Given the description of an element on the screen output the (x, y) to click on. 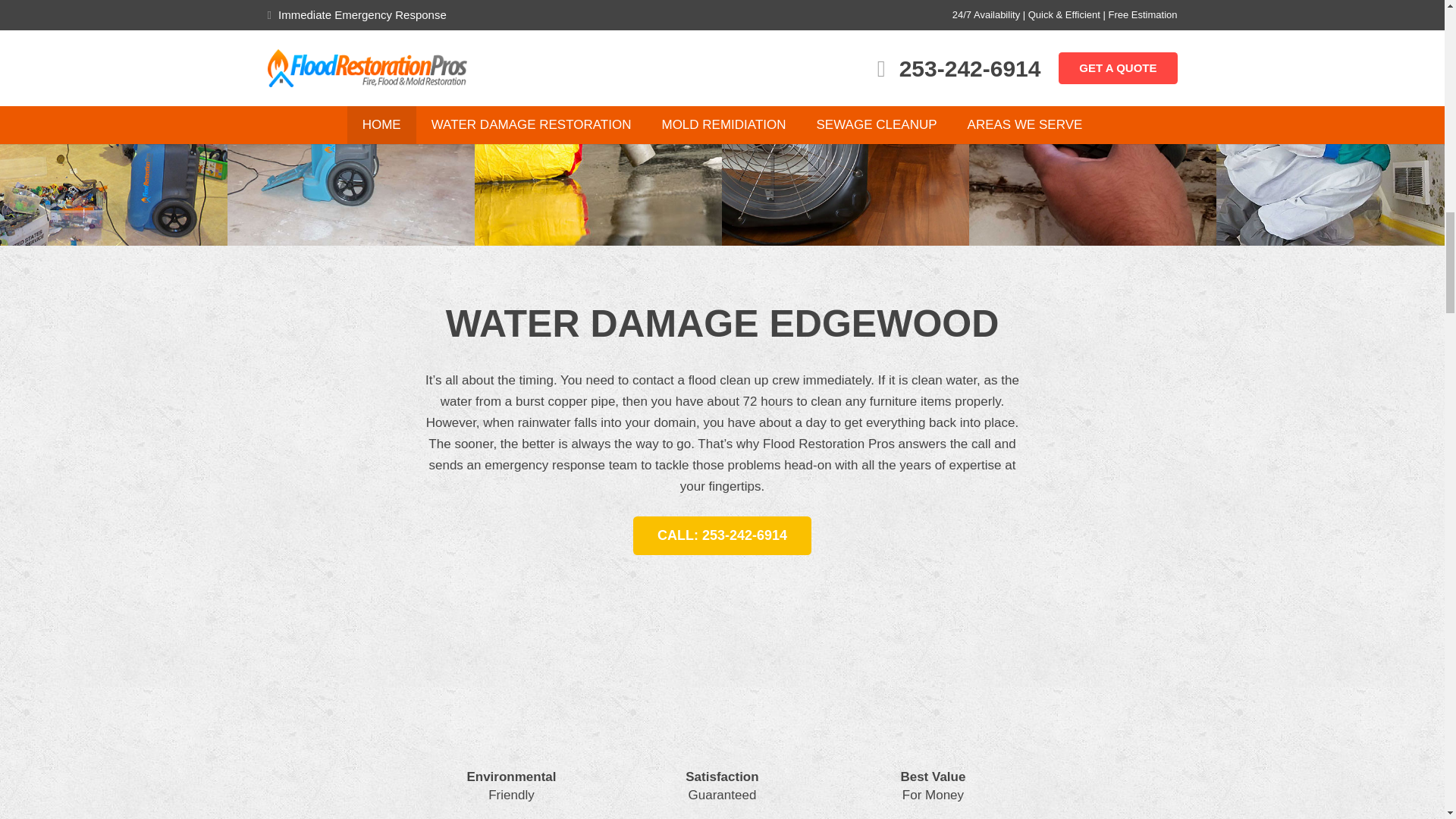
CALL: 253-242-6914 (722, 535)
